Given the description of an element on the screen output the (x, y) to click on. 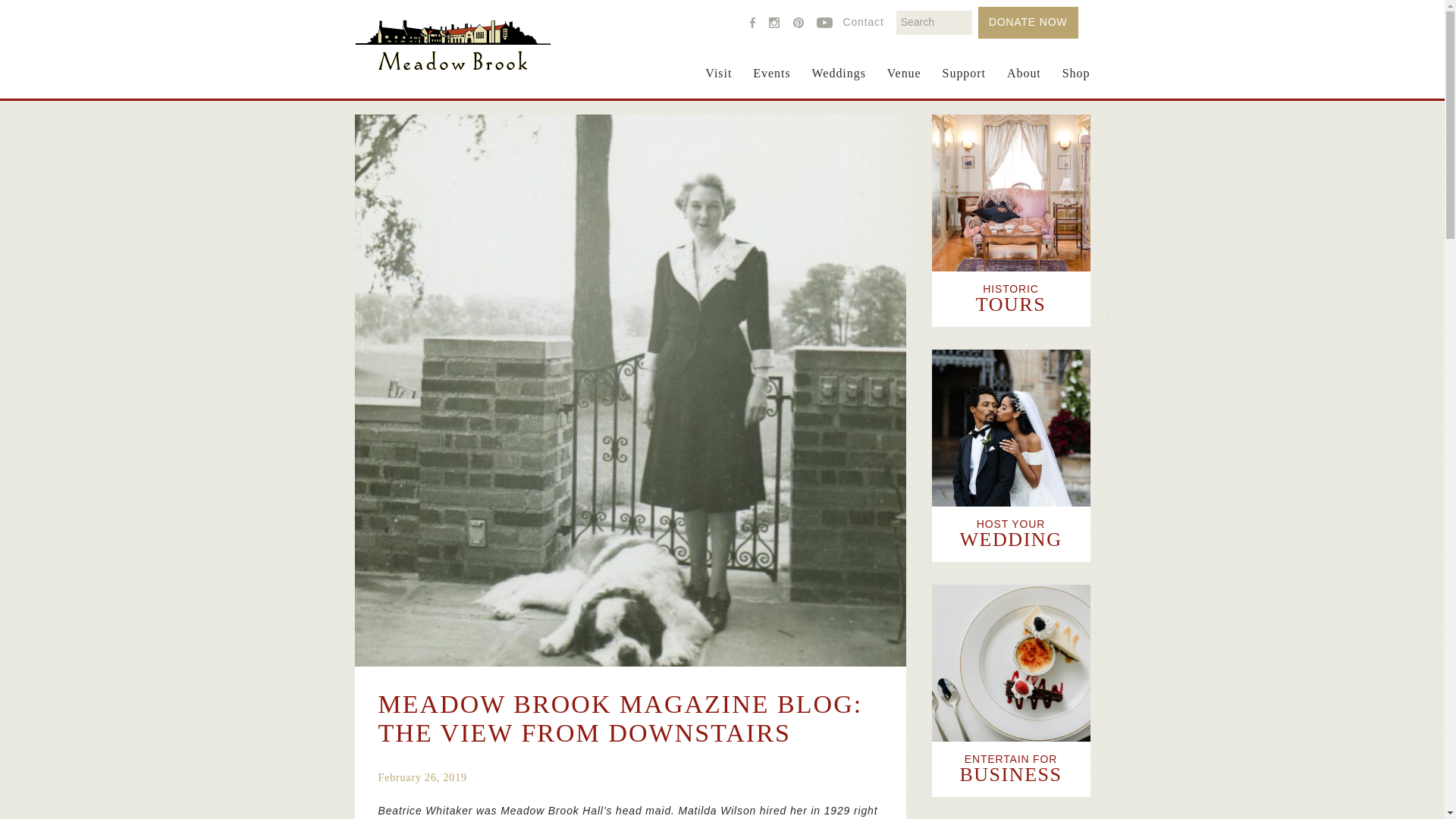
Venue (903, 81)
Search (37, 18)
Events (771, 81)
MEADOW BROOK HALL (452, 44)
YouTube (823, 21)
Pinterest (797, 21)
DONATE NOW (1028, 22)
Instagram (773, 21)
Weddings (839, 81)
Contact (863, 21)
